Given the description of an element on the screen output the (x, y) to click on. 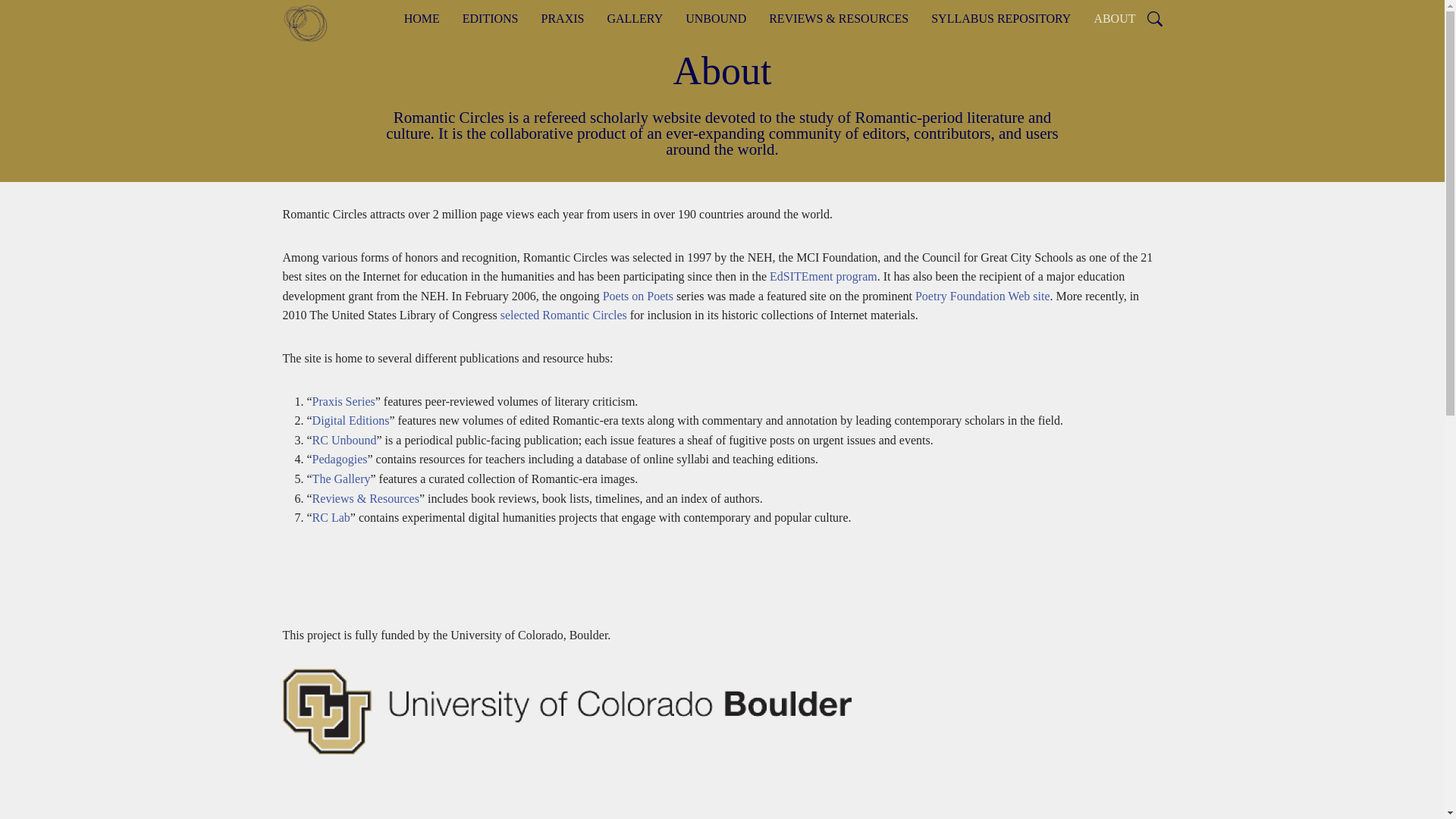
GALLERY (634, 18)
PRAXIS (562, 18)
Digital Editions (351, 420)
EDITIONS (490, 18)
The Gallery (342, 478)
SYLLABUS REPOSITORY (1000, 18)
UNBOUND (715, 18)
RC Lab (331, 517)
HOME (422, 18)
EdSITEment program (823, 276)
Poets on Poets (637, 295)
Praxis Series (344, 400)
Pedagogies (340, 459)
selected Romantic Circles (563, 314)
Poetry Foundation Web site (982, 295)
